Given the description of an element on the screen output the (x, y) to click on. 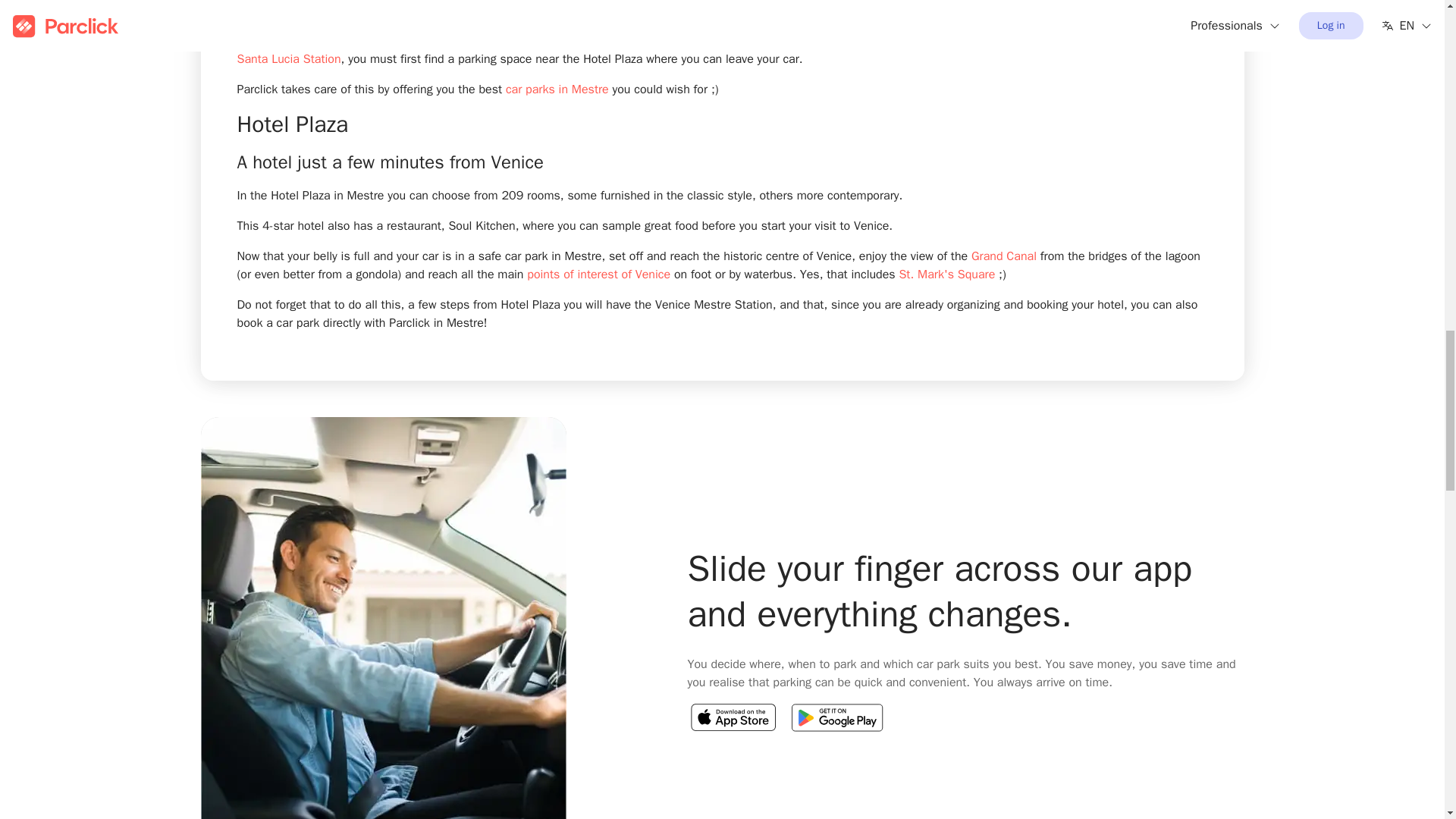
Grand Canal (1003, 255)
points of interest of Venice (598, 273)
Venice Santa Lucia Station (704, 49)
car parks in Mestre (556, 89)
Venice (456, 10)
Venice Santa Lucia Station (704, 49)
Venice (456, 10)
Grand Canal (1003, 255)
car parks in Mestre (556, 89)
St. Mark's Square (946, 273)
